Given the description of an element on the screen output the (x, y) to click on. 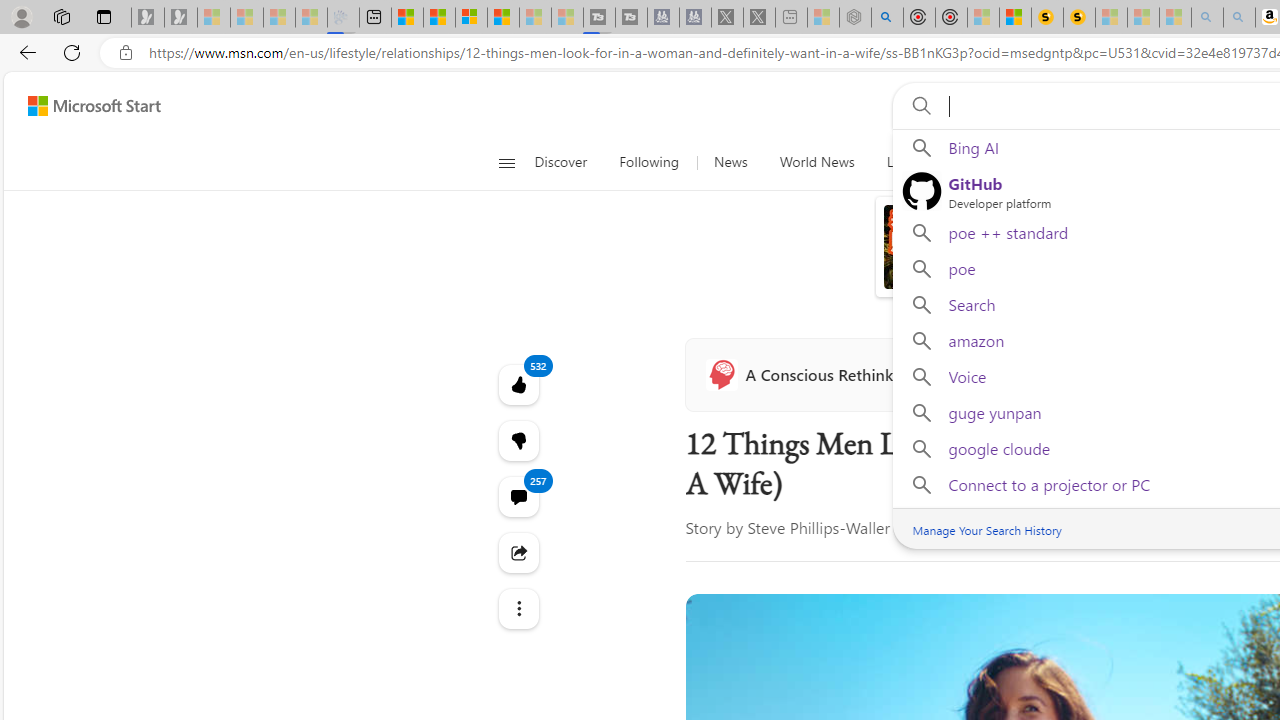
Newsletter Sign Up - Sleeping (181, 17)
Technology (1064, 162)
World News (816, 162)
Class: button-glyph (505, 162)
View comments 257 Comment (517, 496)
Share this story (517, 552)
